Given the description of an element on the screen output the (x, y) to click on. 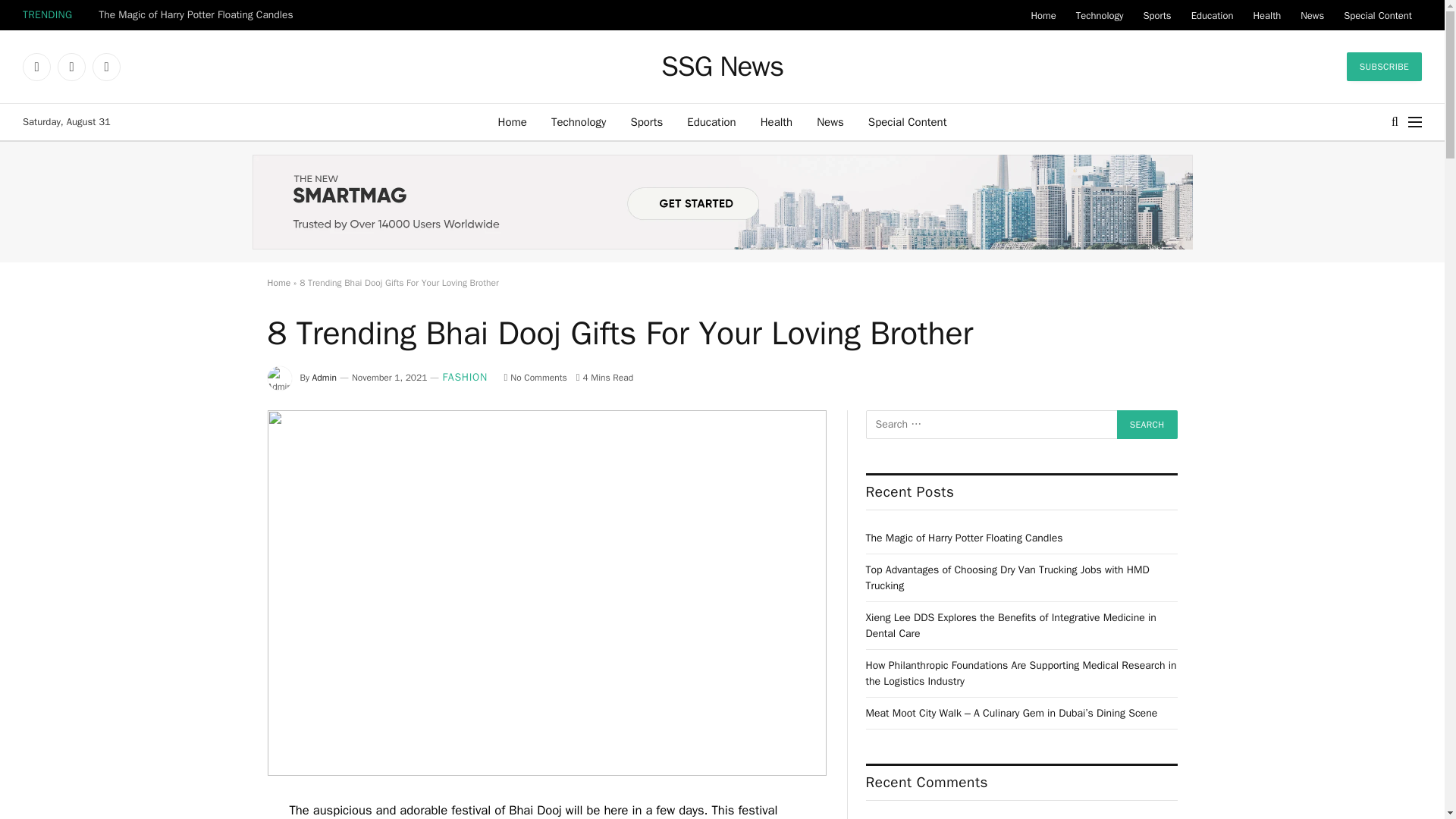
Special Content (907, 122)
Sports (646, 122)
ssgnews.com (722, 66)
Education (711, 122)
Instagram (106, 67)
SSG News (722, 66)
Posts by Admin (324, 377)
SUBSCRIBE (1384, 66)
Technology (578, 122)
Home (1042, 15)
